Given the description of an element on the screen output the (x, y) to click on. 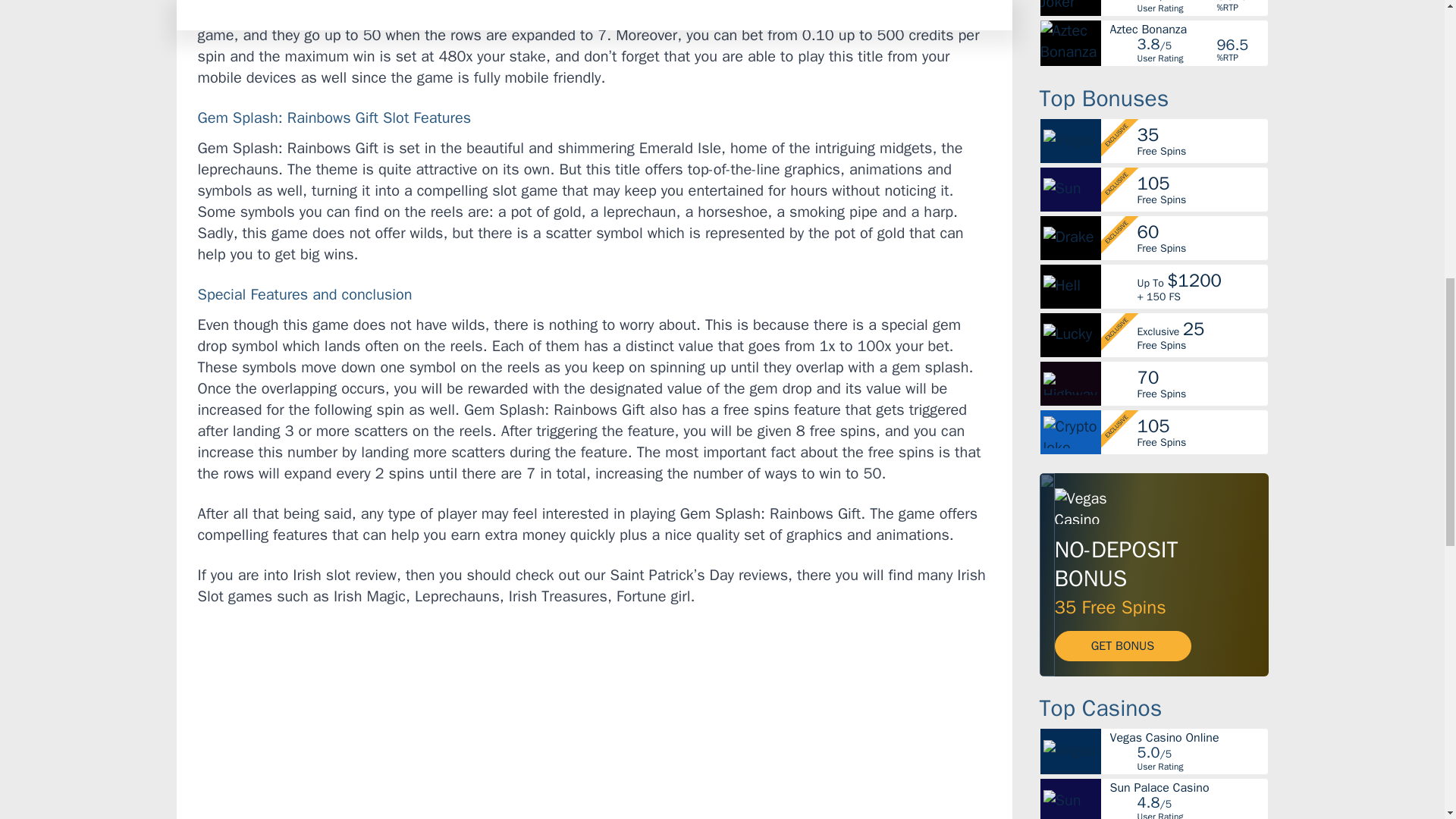
Aztec Bonanza (1187, 29)
Vegas Casino Online (1187, 737)
Sun Palace Casino (1187, 787)
